Given the description of an element on the screen output the (x, y) to click on. 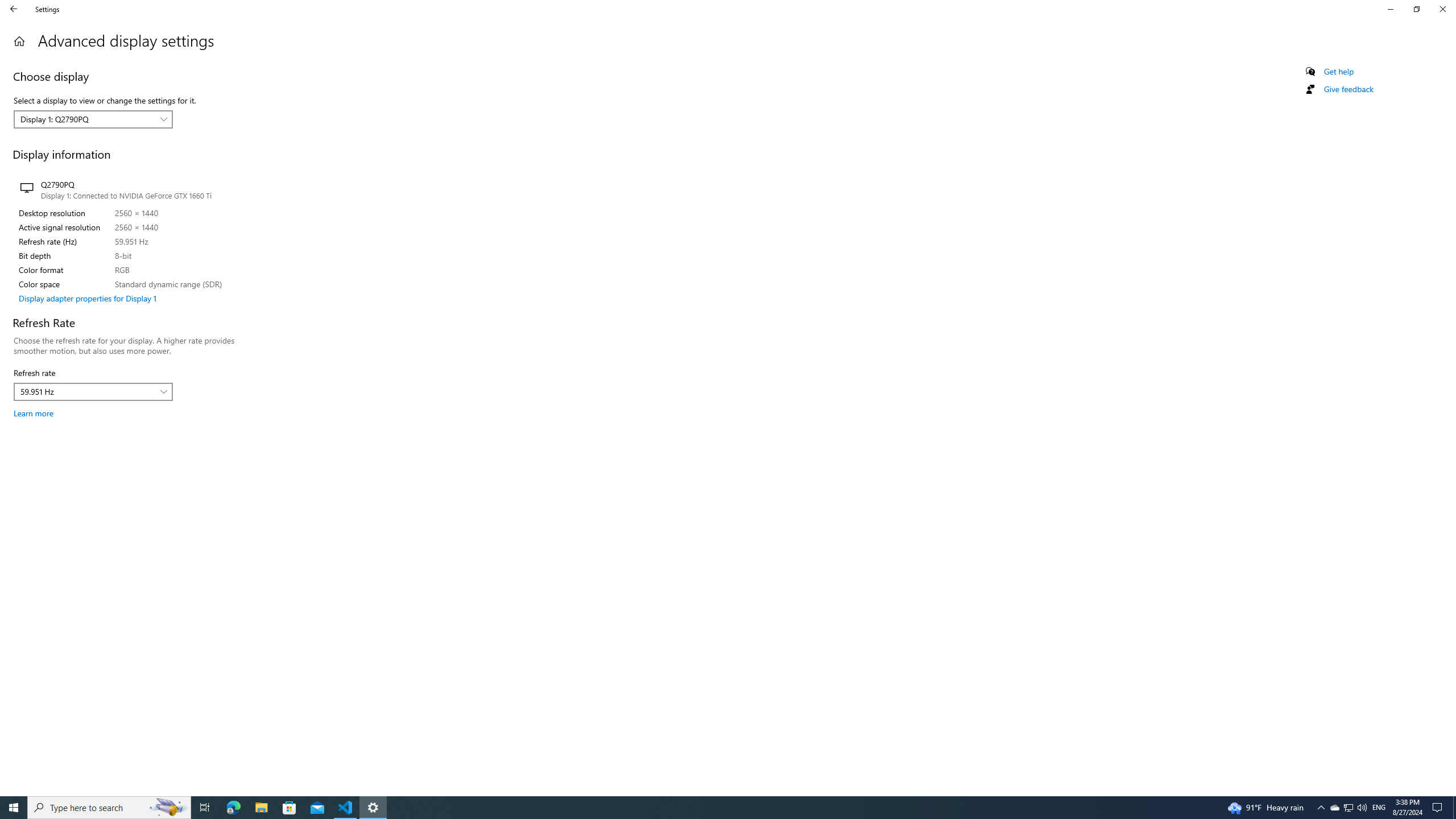
Give feedback (1348, 88)
Minimize Settings (1390, 9)
Home (19, 40)
Refresh rate (93, 391)
Close Settings (1442, 9)
Learn more (33, 412)
Restore Settings (1416, 9)
Running applications (706, 807)
Display adapter properties for Display 1 (87, 298)
